Given the description of an element on the screen output the (x, y) to click on. 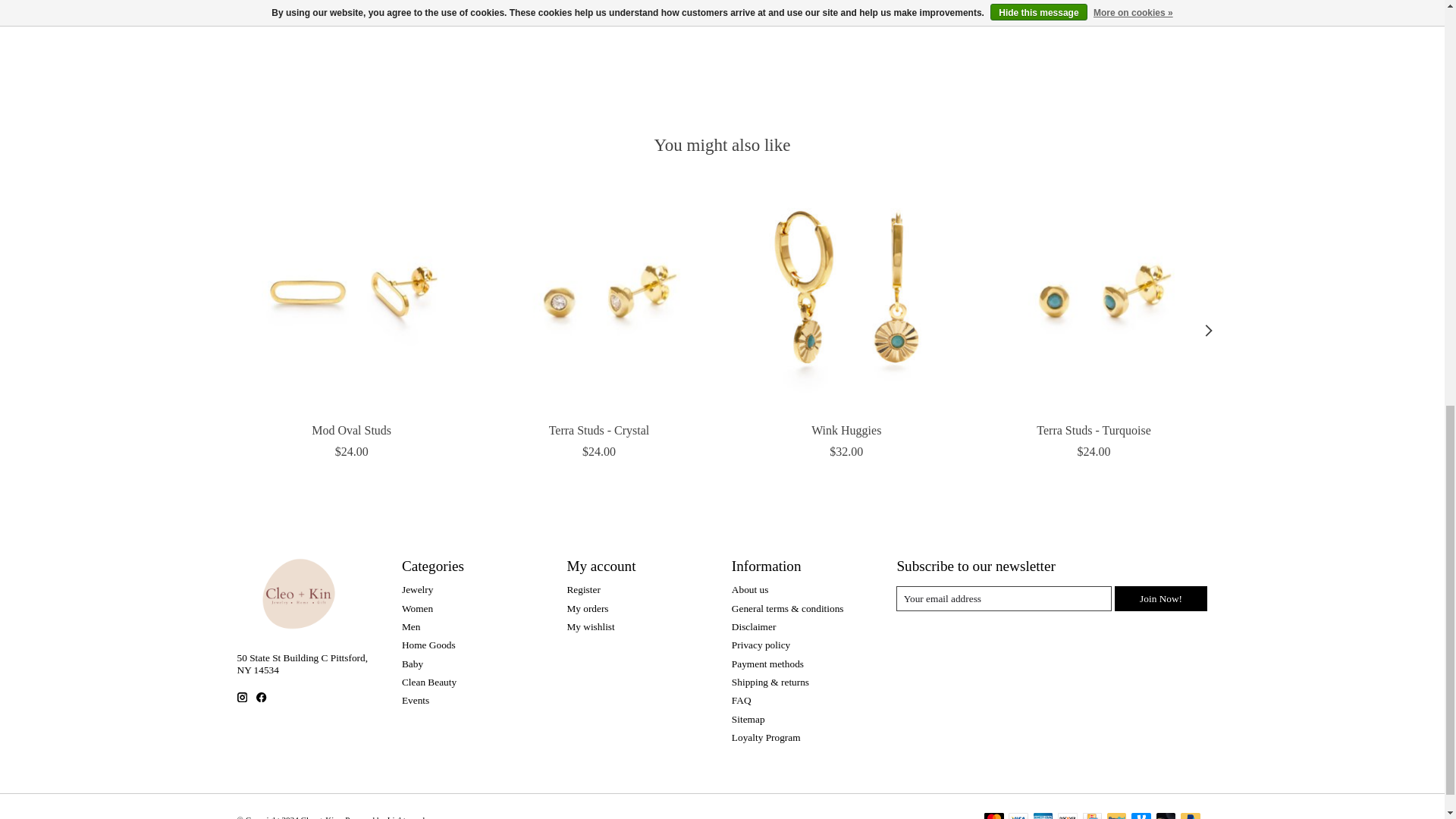
Terra Studs - Turquoise (1092, 297)
Terra Studs - Crystal (598, 297)
Wink Huggies (845, 297)
Mod Oval Studs (349, 297)
